Given the description of an element on the screen output the (x, y) to click on. 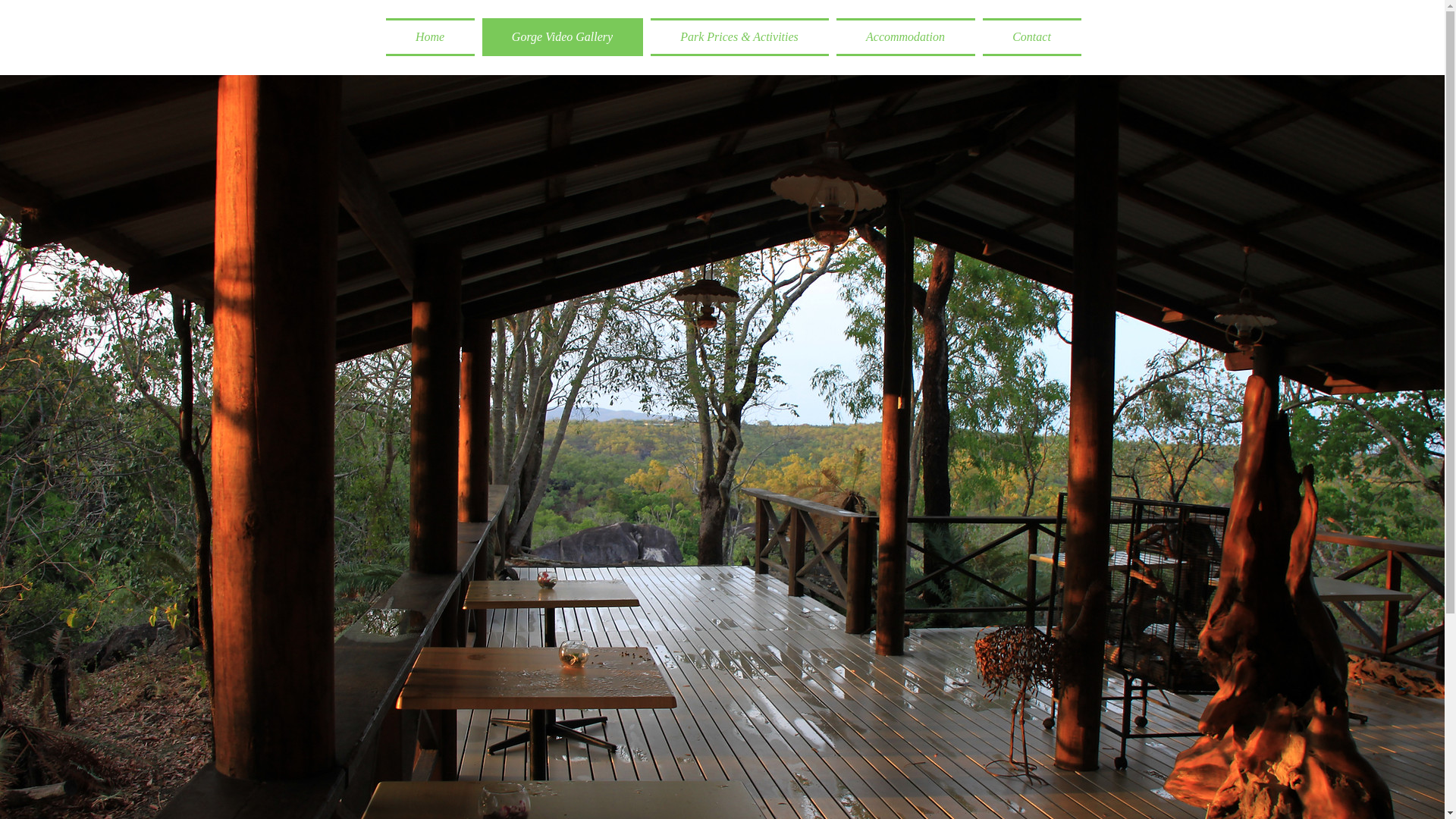
Park Prices & Activities Element type: text (738, 37)
Gorge Video Gallery Element type: text (561, 37)
Home Element type: text (431, 37)
Contact Element type: text (1029, 37)
Accommodation Element type: text (905, 37)
